Given the description of an element on the screen output the (x, y) to click on. 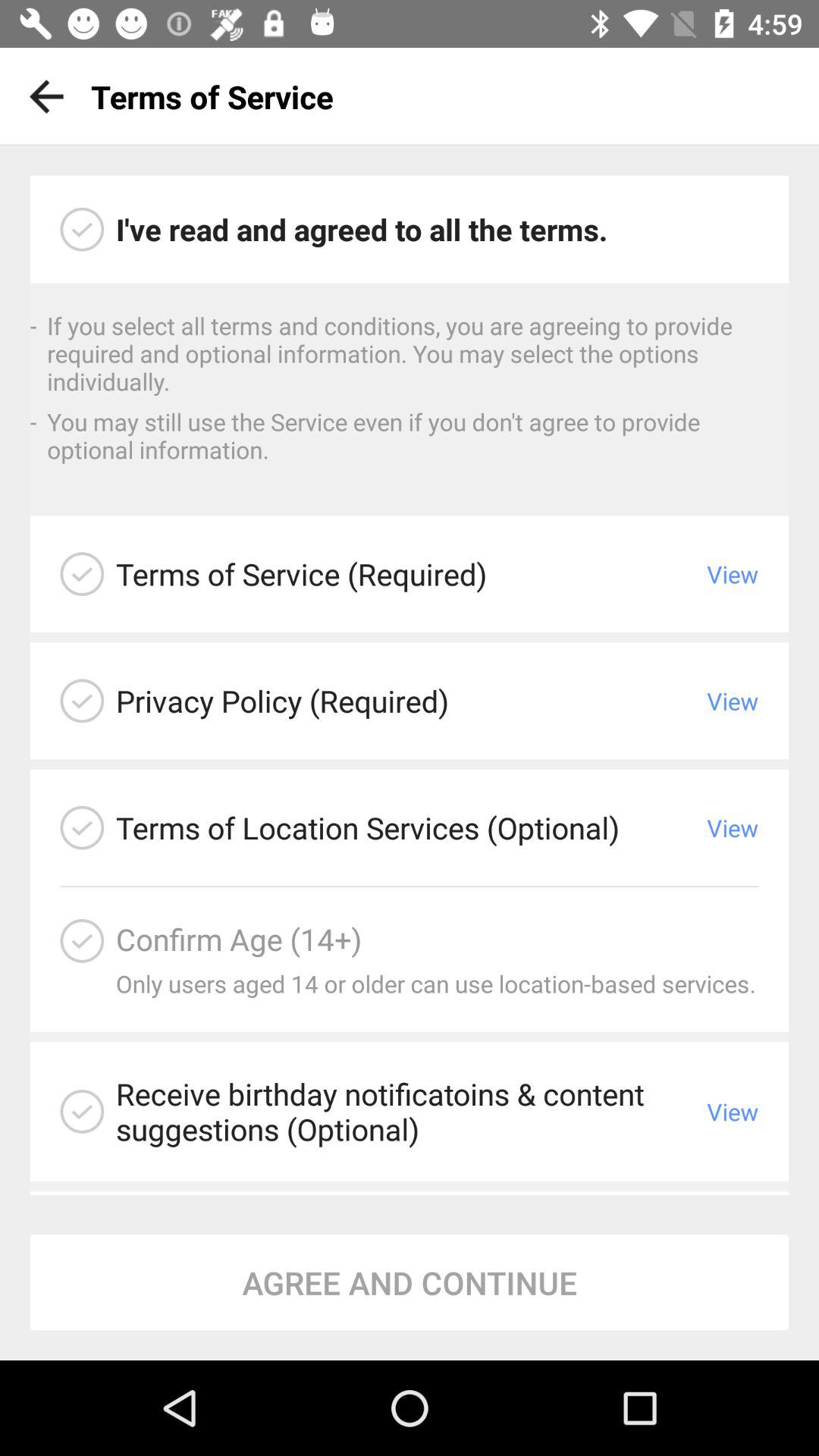
click icon next to terms of service (41, 96)
